Given the description of an element on the screen output the (x, y) to click on. 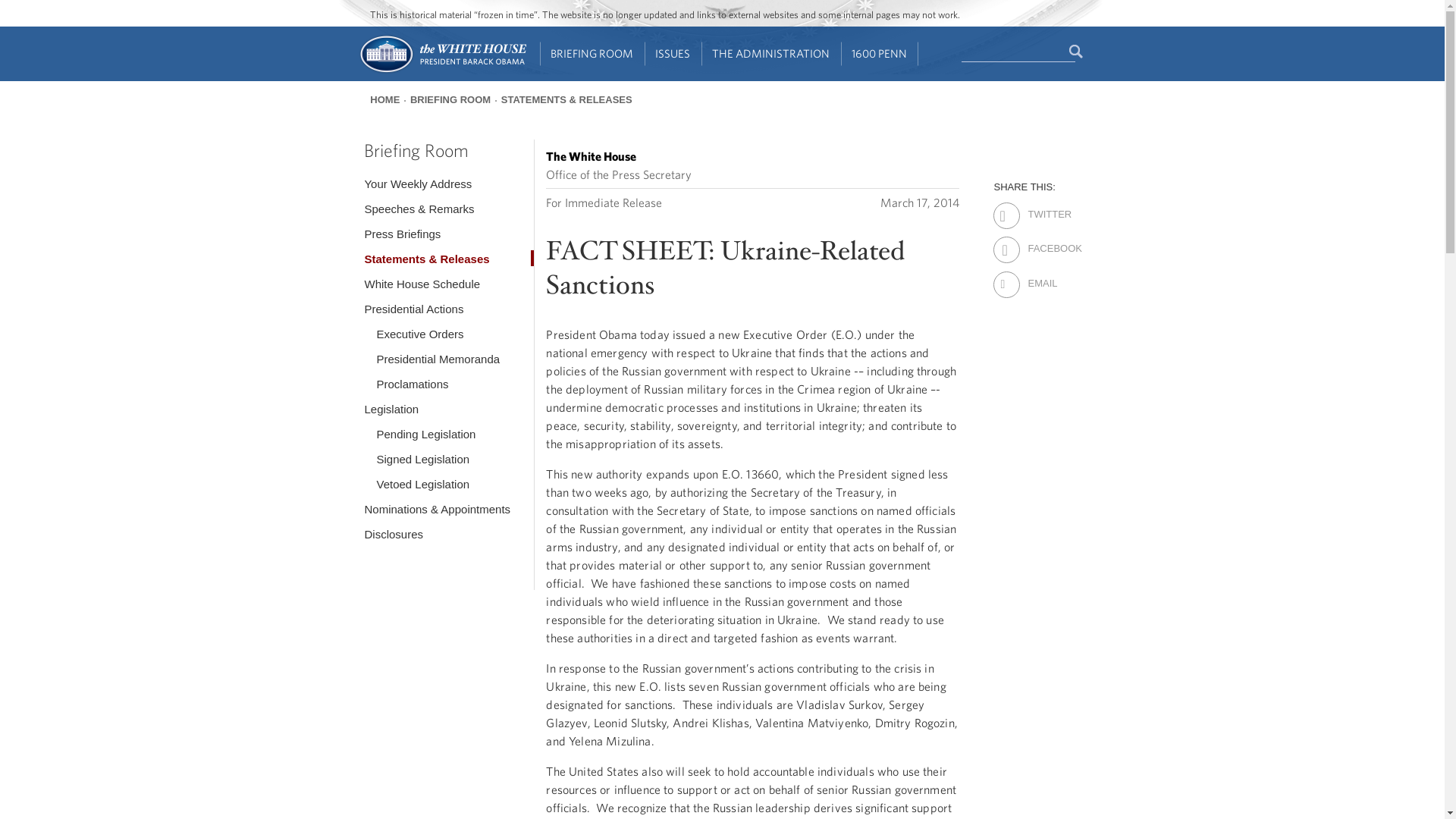
BRIEFING ROOM (592, 53)
Twitter (1040, 204)
Search (1076, 51)
ISSUES (673, 53)
Facebook (1040, 238)
Enter the terms you wish to search for. (1017, 52)
Email (1040, 273)
Home (441, 70)
